Given the description of an element on the screen output the (x, y) to click on. 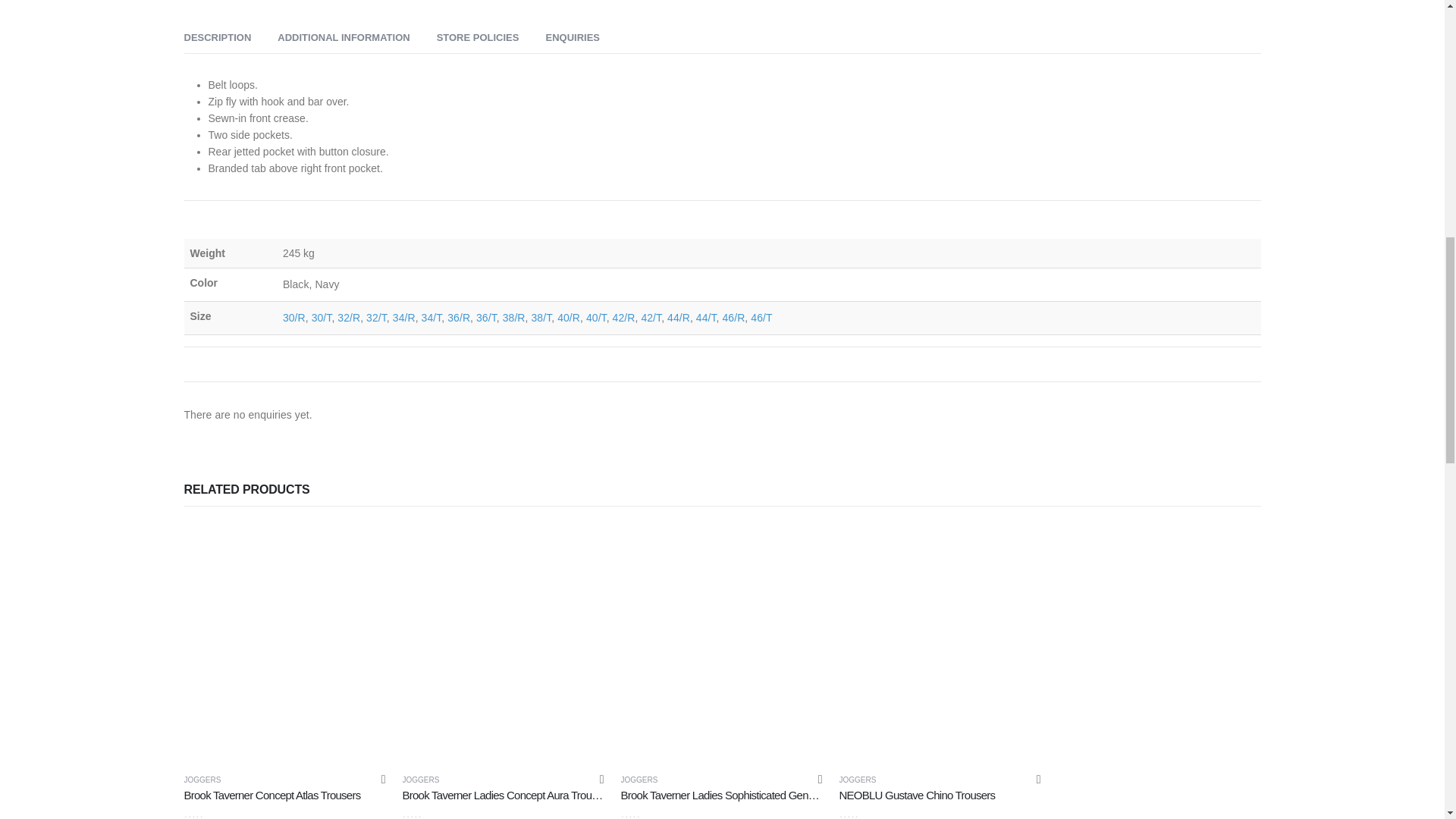
0 (210, 812)
